Given the description of an element on the screen output the (x, y) to click on. 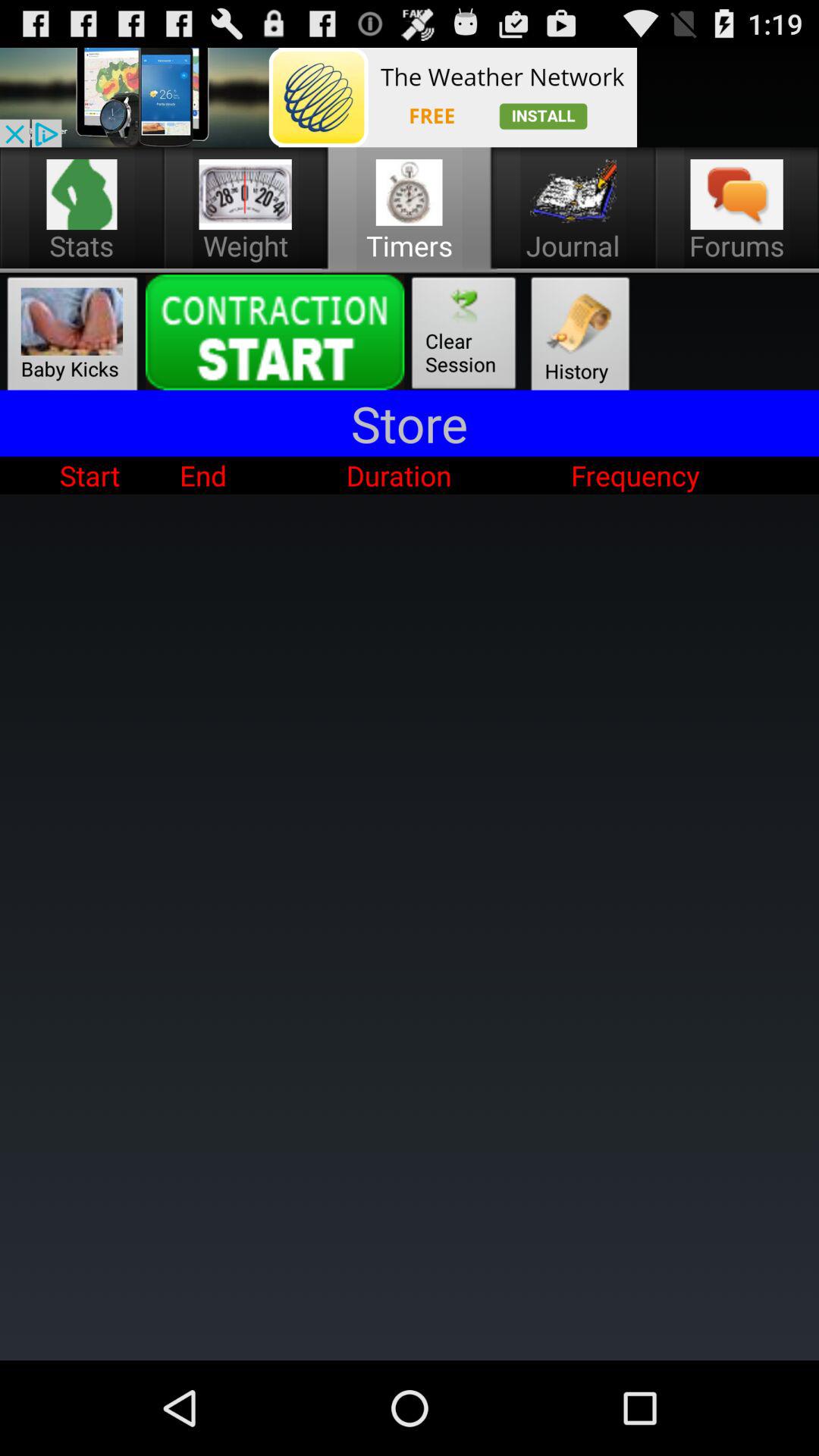
toggle contraction feature (274, 332)
